Given the description of an element on the screen output the (x, y) to click on. 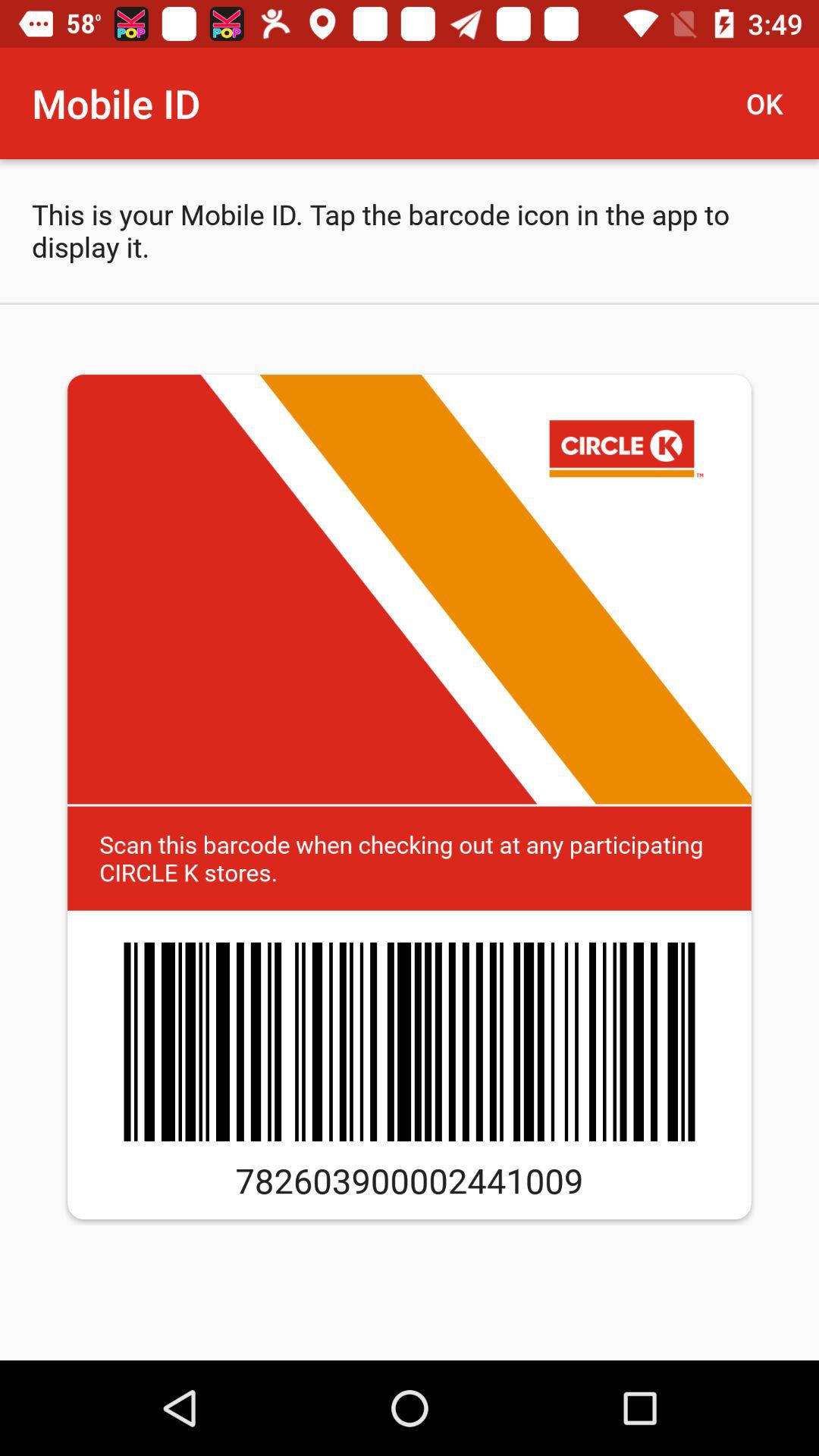
choose item next to mobile id icon (771, 103)
